Given the description of an element on the screen output the (x, y) to click on. 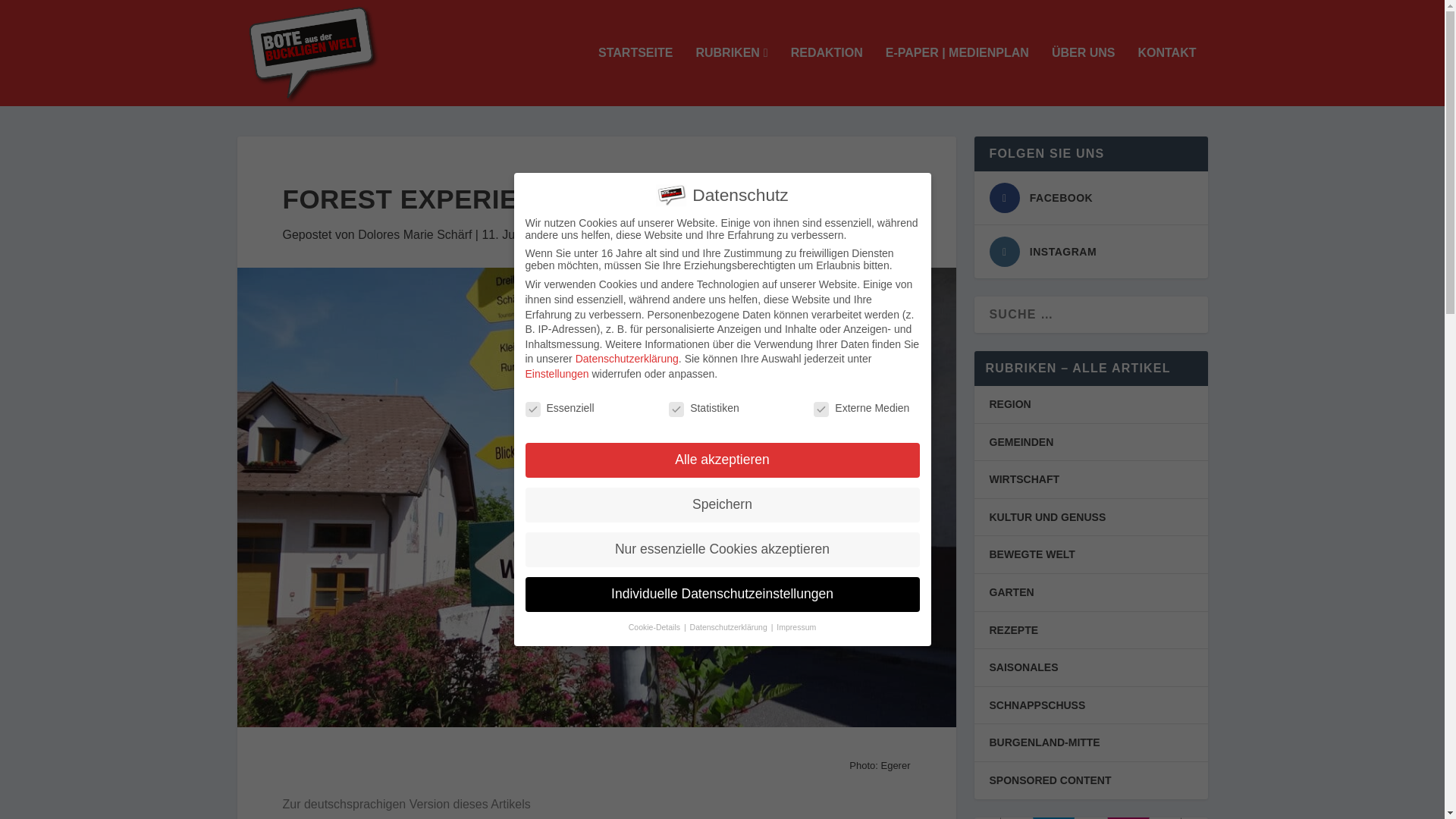
Zur deutschsprachigen Version dieses Artikels (405, 803)
Bewegte Welt (597, 233)
STARTSEITE (635, 76)
RUBRIKEN (731, 76)
REDAKTION (826, 76)
KONTAKT (1166, 76)
